Given the description of an element on the screen output the (x, y) to click on. 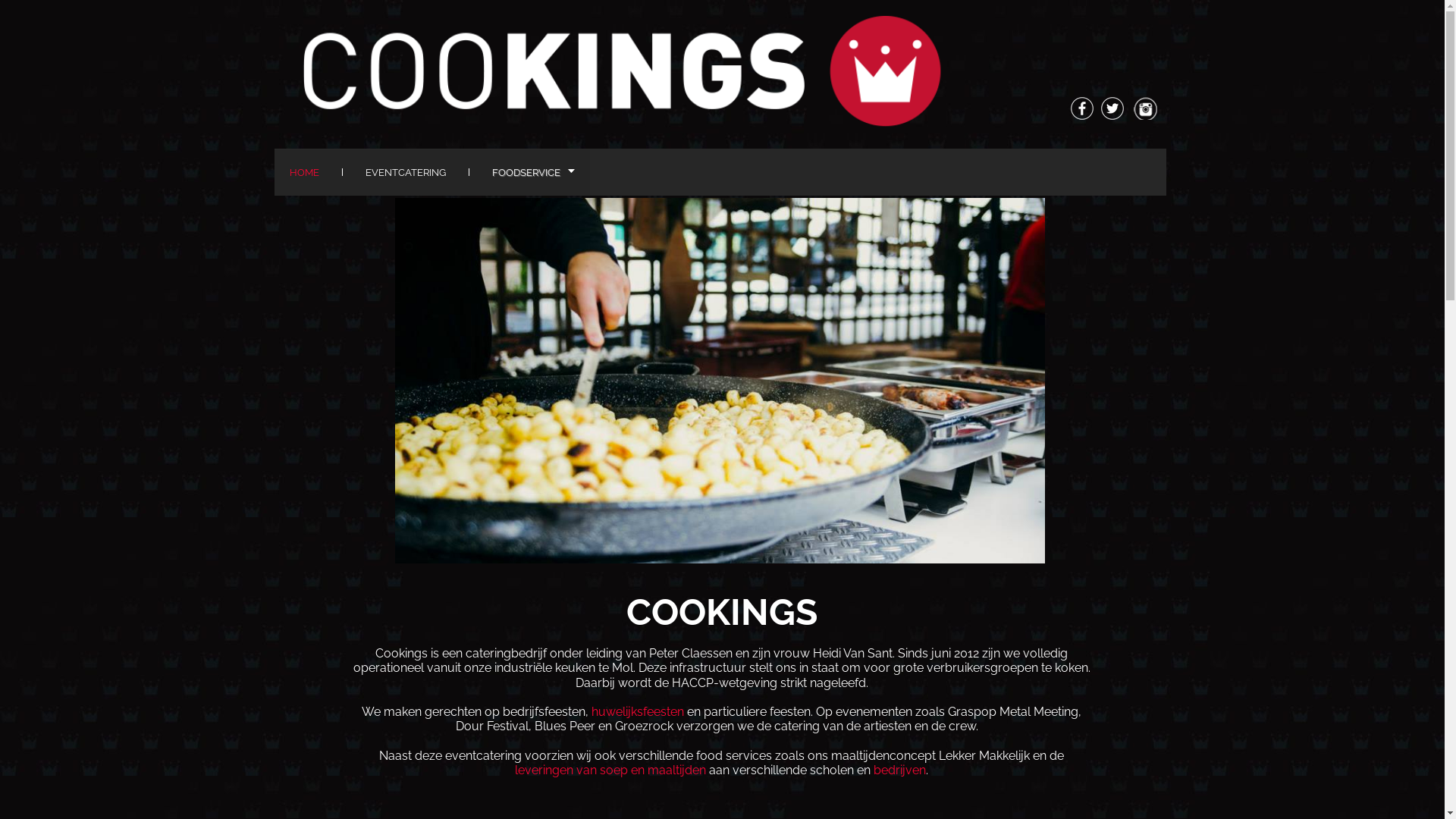
bedrijven Element type: text (899, 769)
FOODSERVICE Element type: text (532, 172)
EVENTCATERING Element type: text (405, 172)
leveringen van soep en maaltijden Element type: text (610, 769)
huwelijksfeesten Element type: text (637, 711)
HOME Element type: text (304, 172)
